Given the description of an element on the screen output the (x, y) to click on. 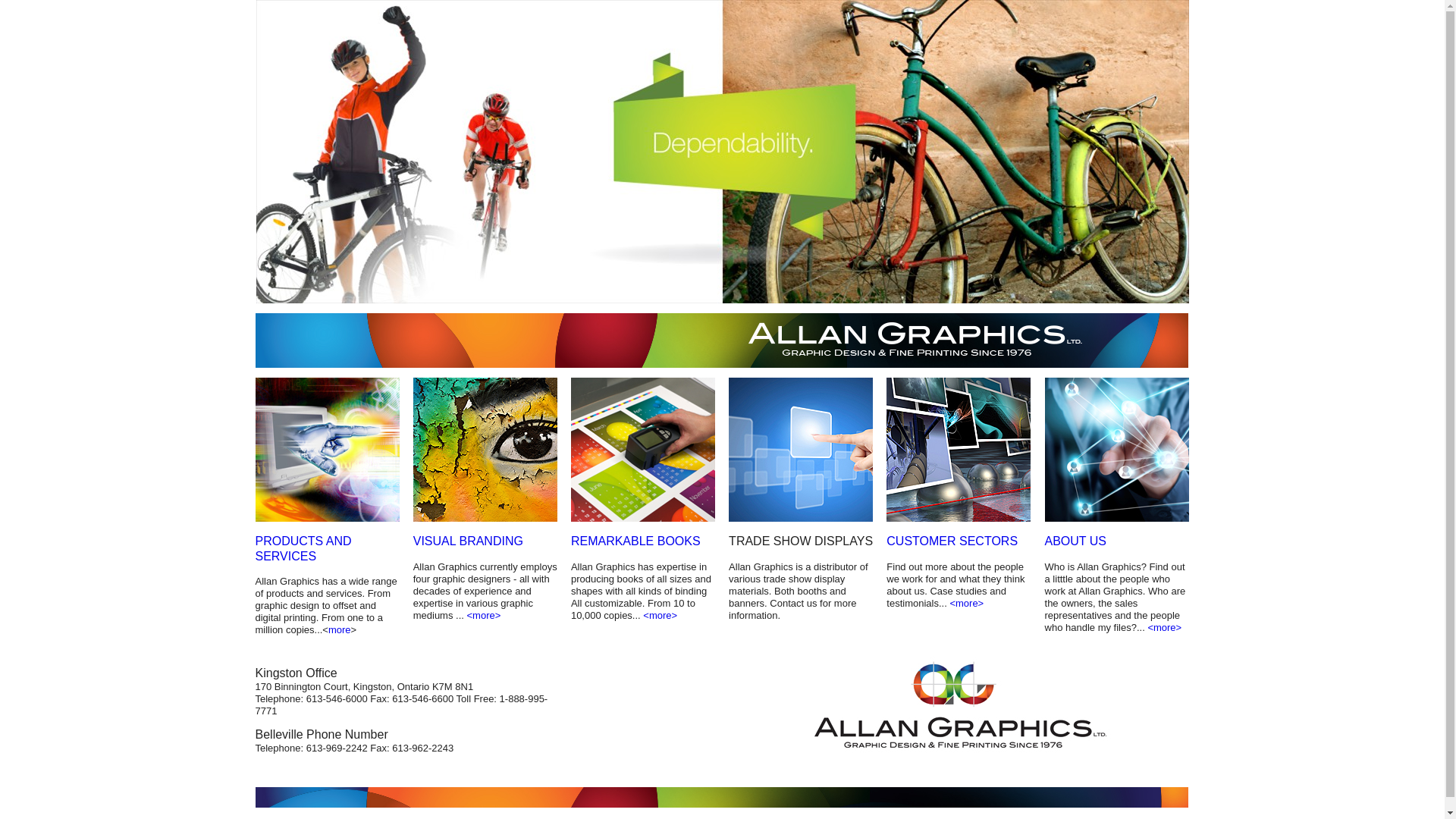
ABOUT US Element type: text (1075, 540)
VISUAL BRANDING Element type: text (468, 540)
dependability Element type: hover (722, 151)
more Element type: text (339, 629)
REMARKABLE BOOKS Element type: text (635, 540)
PRODUCTS AND SERVICES Element type: text (302, 548)
CUSTOMER SECTORS Element type: text (951, 540)
<more> Element type: text (1164, 627)
<more> Element type: text (660, 615)
<more> Element type: text (484, 615)
<more> Element type: text (966, 602)
